Given the description of an element on the screen output the (x, y) to click on. 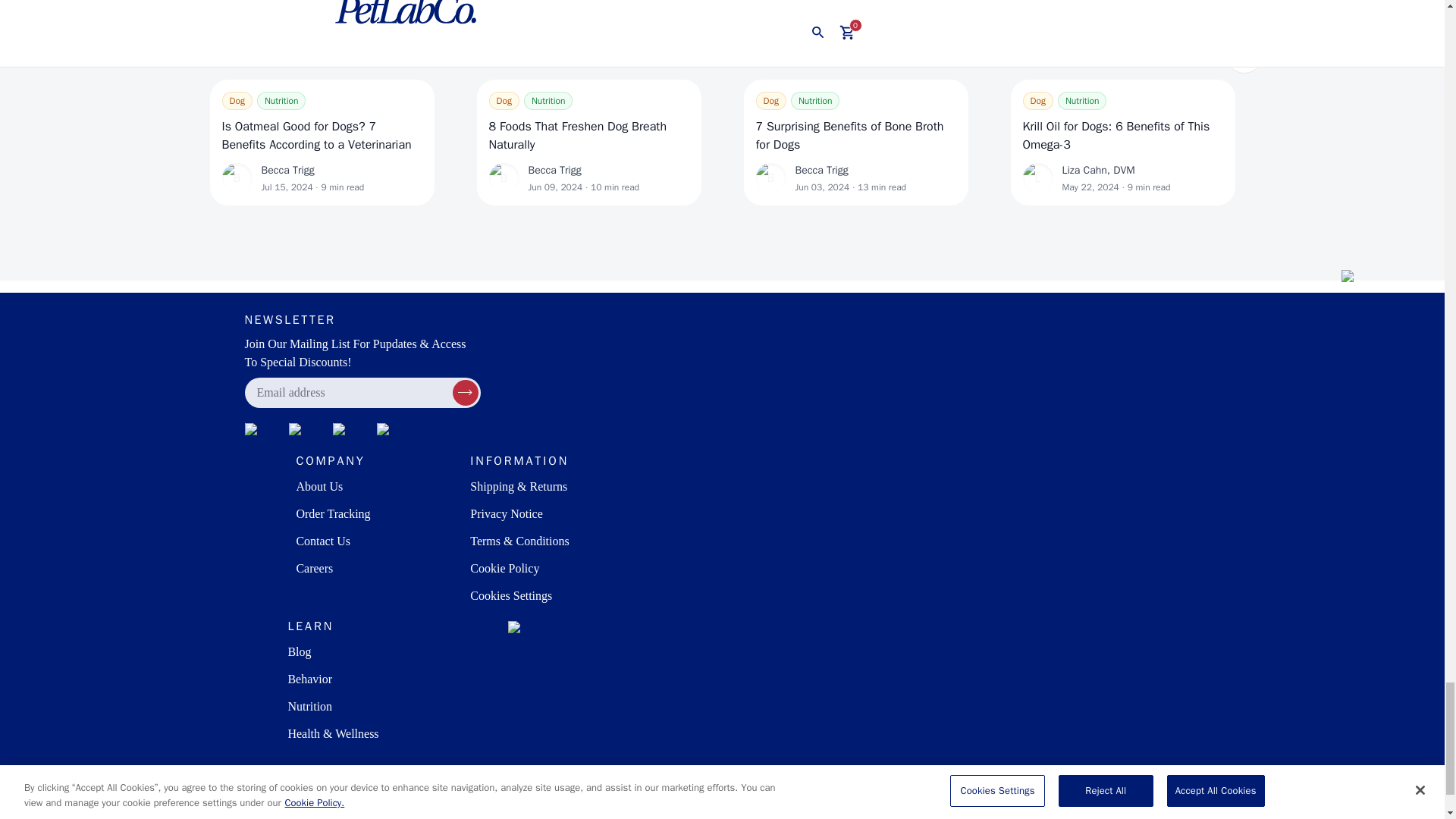
7 Surprising Benefits of Bone Broth for Dogs (855, 135)
8 Foods That Freshen Dog Breath Naturally (587, 135)
